Given the description of an element on the screen output the (x, y) to click on. 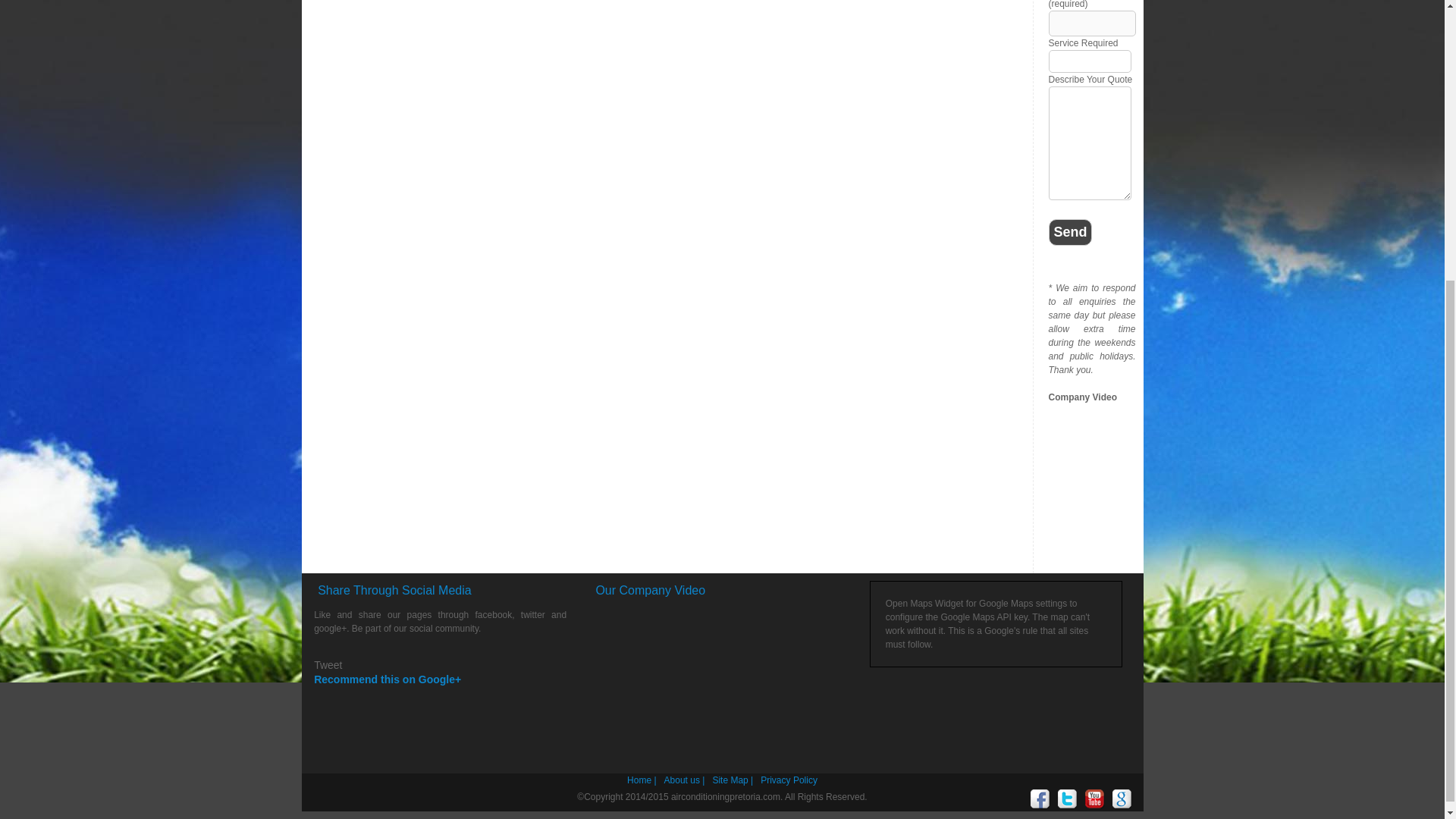
Google (1121, 799)
Tweet (328, 664)
Send (1070, 232)
YouTube (1093, 799)
Facebook (1039, 799)
Privacy Policy (788, 779)
Twitter (1067, 799)
Send (1070, 232)
